Given the description of an element on the screen output the (x, y) to click on. 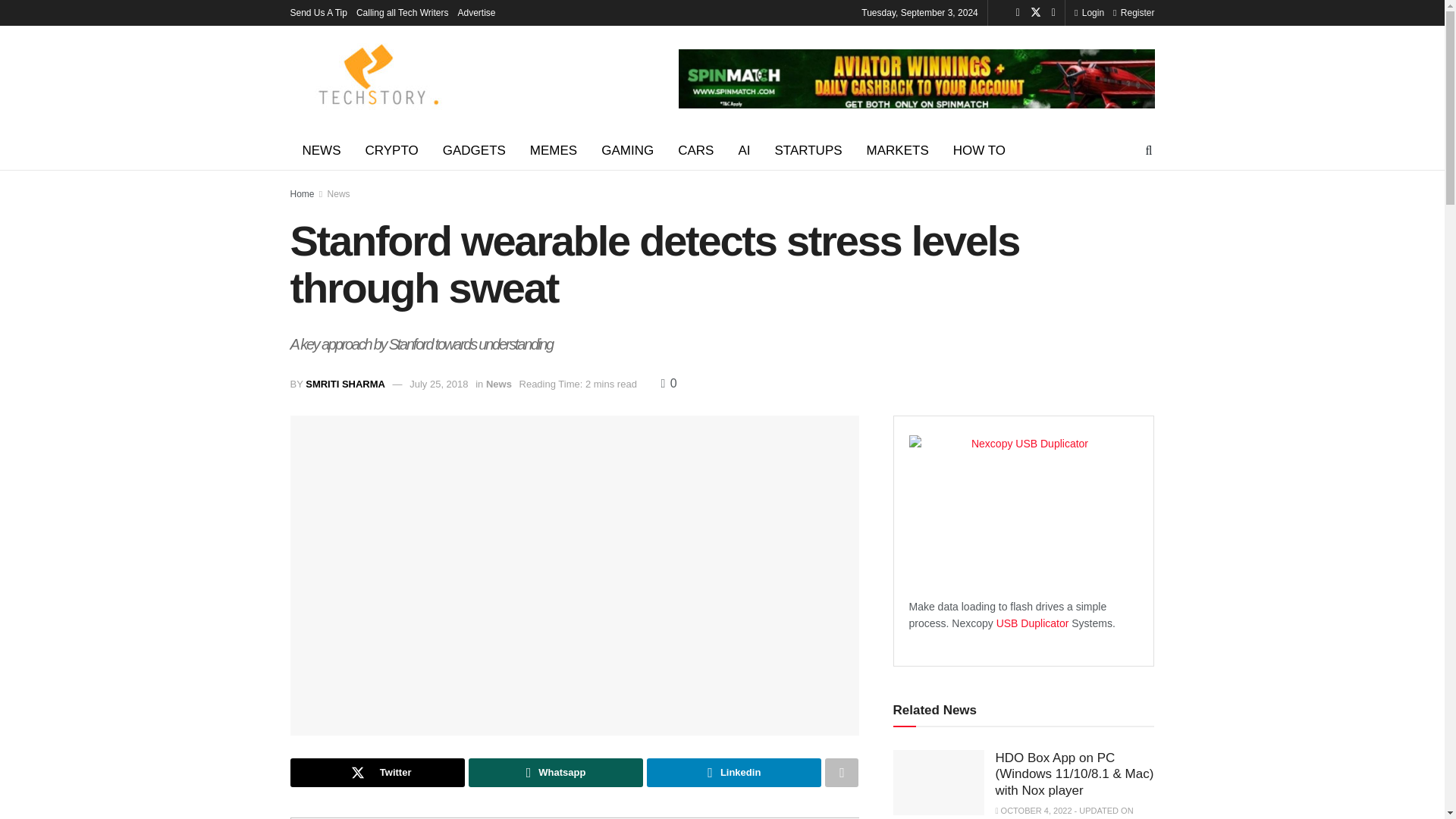
STARTUPS (807, 150)
GAMING (627, 150)
USB duplicator (1033, 623)
AI (743, 150)
CARS (695, 150)
Register (1133, 12)
Send Us A Tip (317, 12)
MARKETS (897, 150)
Advertise (477, 12)
HOW TO (978, 150)
